Given the description of an element on the screen output the (x, y) to click on. 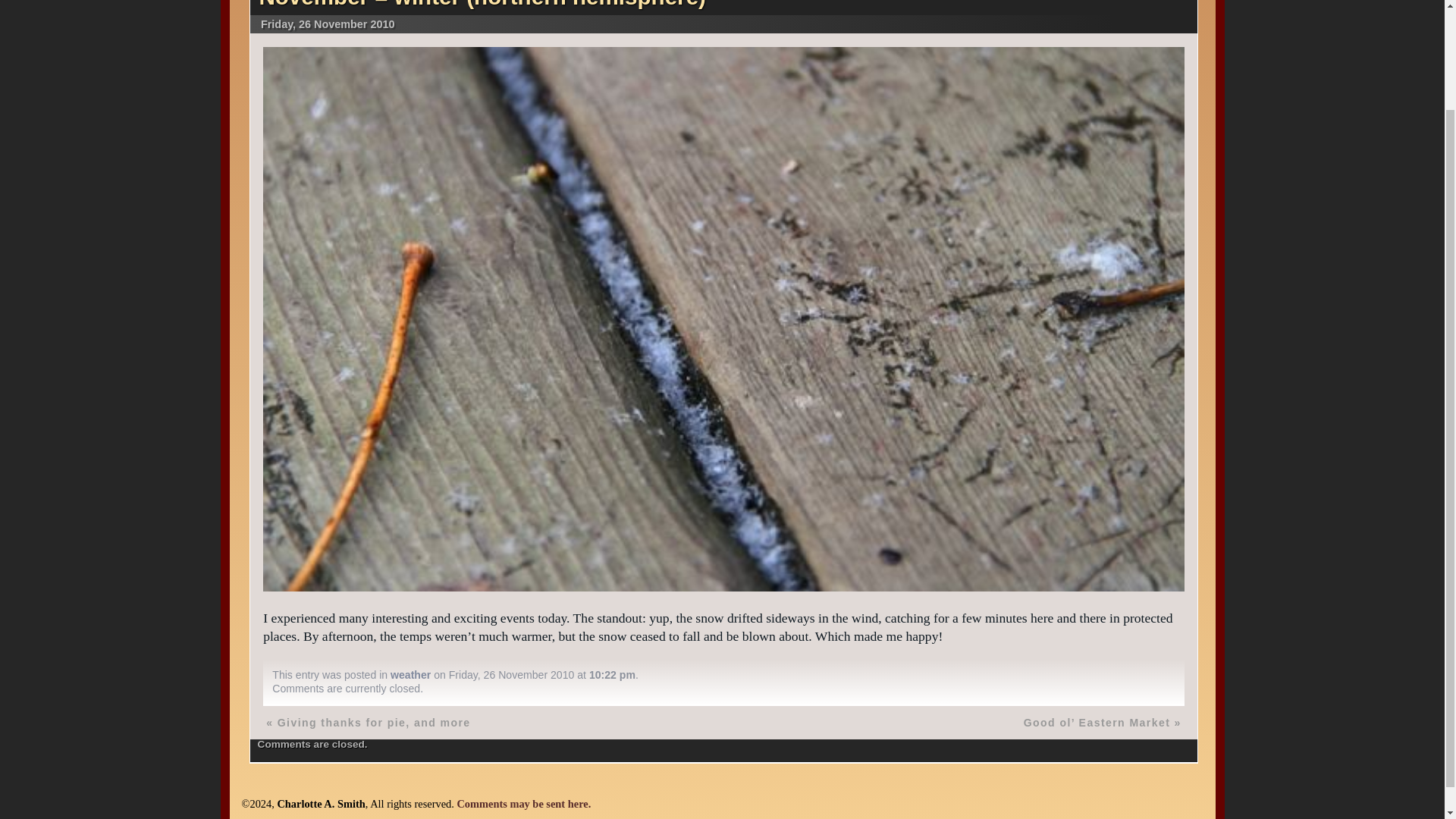
Comments may be sent here. (524, 803)
weather (410, 674)
earlier in time... (368, 722)
Giving thanks for pie, and more (374, 722)
later in time... (1101, 722)
